Given the description of an element on the screen output the (x, y) to click on. 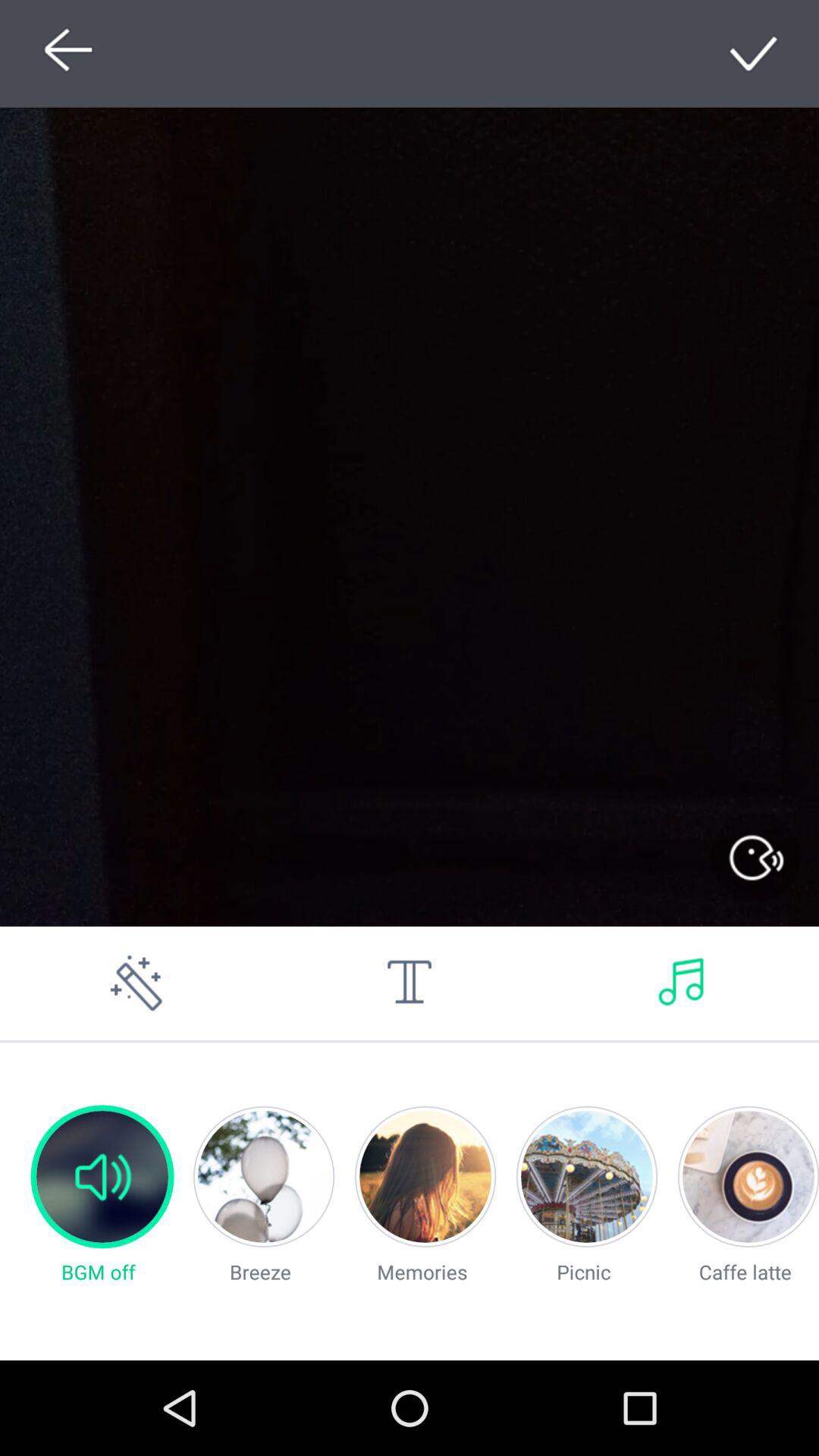
edit photo (136, 983)
